Given the description of an element on the screen output the (x, y) to click on. 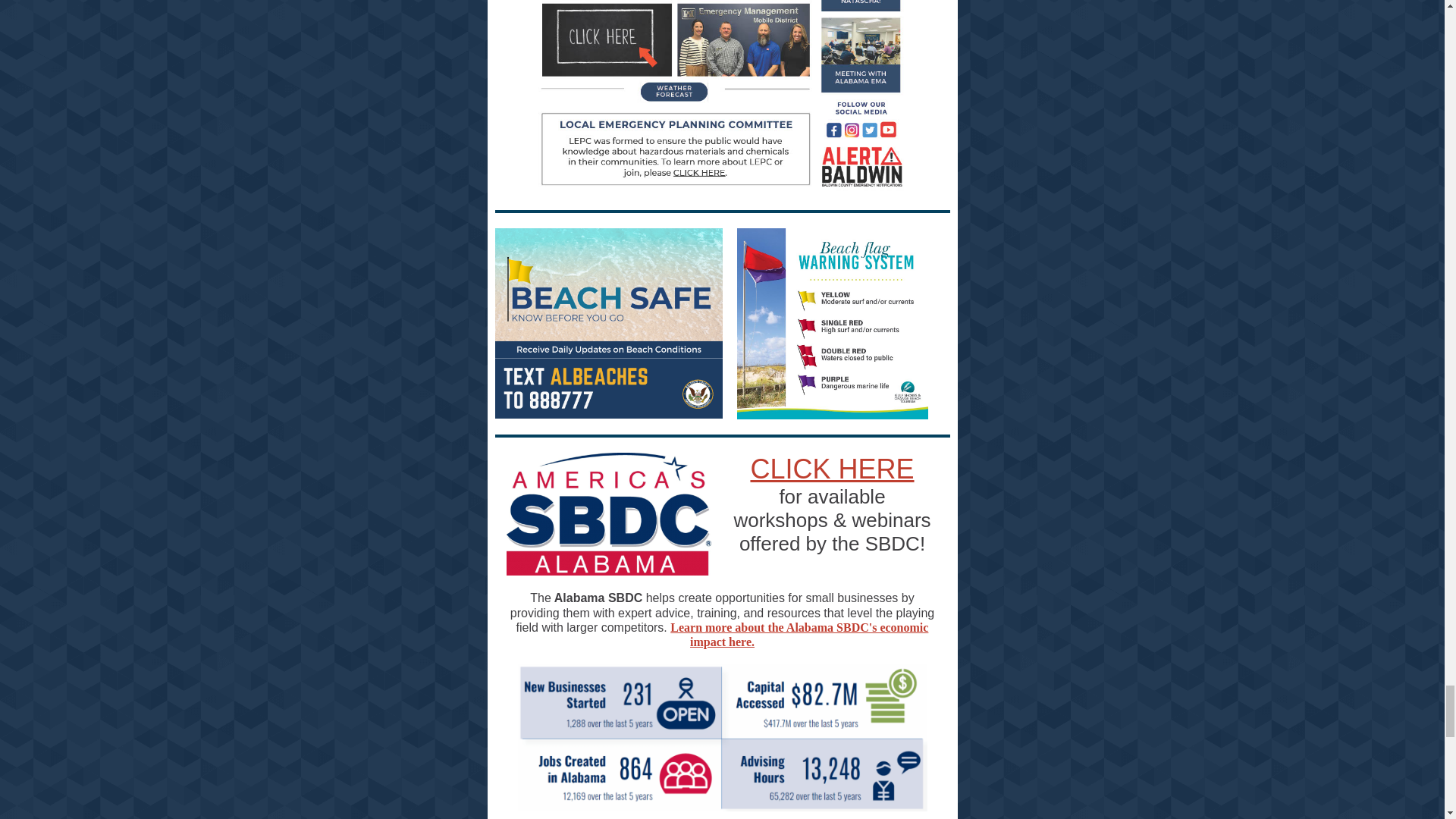
Learn more about the Alabama SBDC's economic impact here. (798, 634)
CLICK HERE (831, 468)
